Given the description of an element on the screen output the (x, y) to click on. 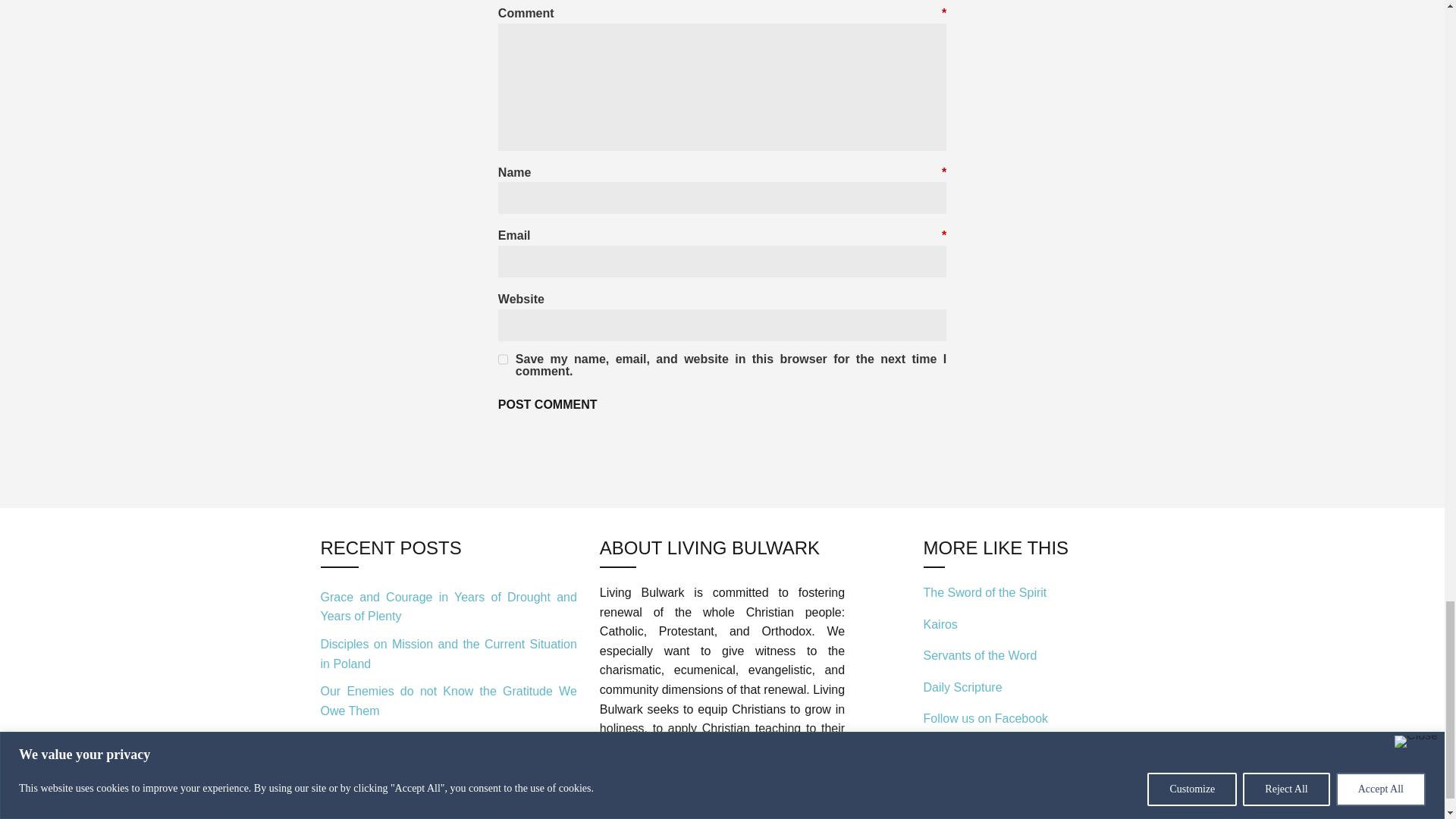
Privacy Policy (637, 815)
Post Comment (546, 404)
Post Comment (546, 404)
The Sword of the Spirit (984, 592)
Servants of the Word (979, 655)
Our Enemies do not Know the Gratitude We Owe Them  (448, 701)
Kairos (940, 624)
Grace and Courage in Years of Drought and Years of Plenty (448, 606)
Disciples on Mission and the Current Situation in Poland  (448, 653)
